Given the description of an element on the screen output the (x, y) to click on. 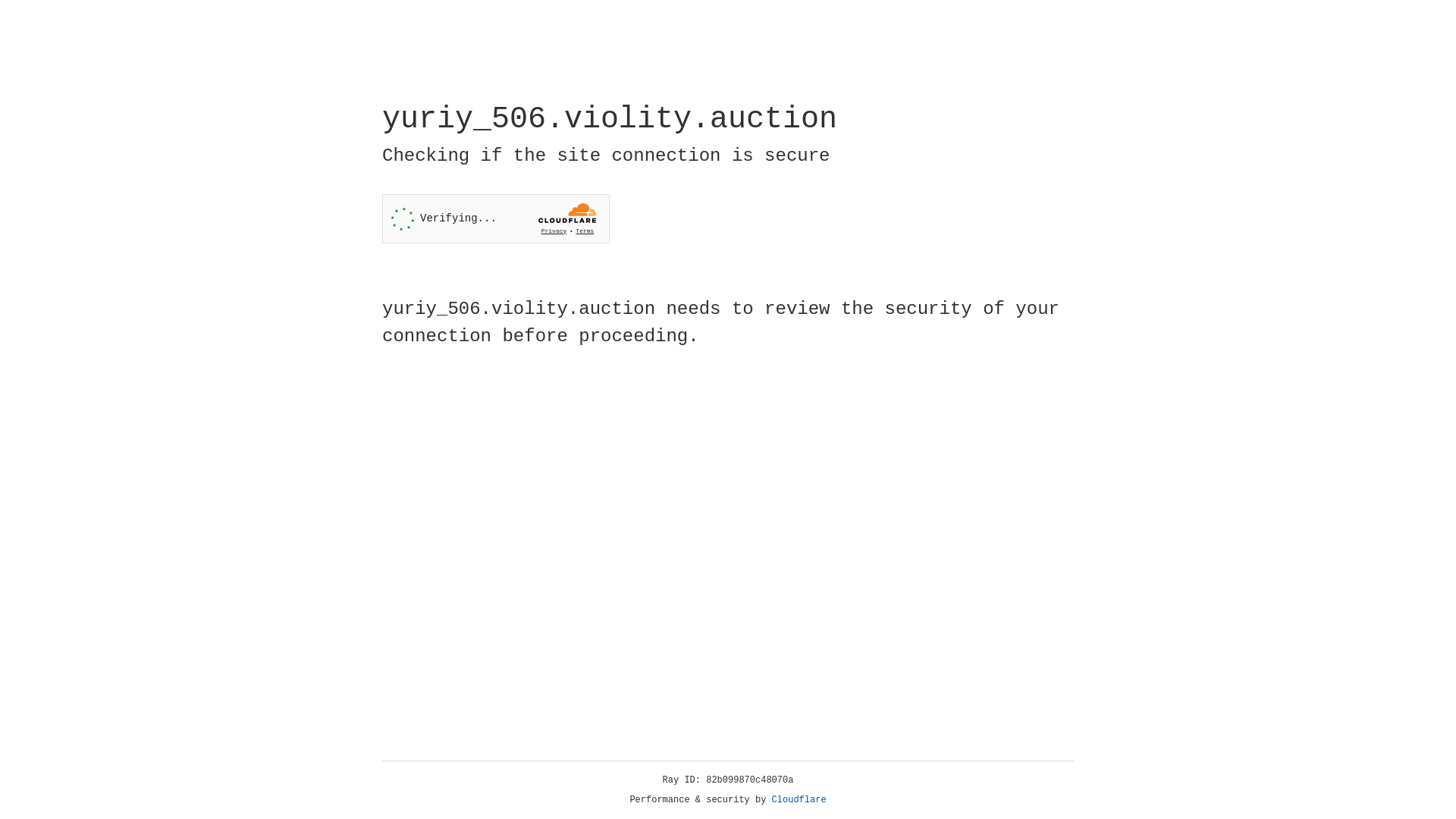
Cloudflare Element type: text (798, 799)
Widget containing a Cloudflare security challenge Element type: hover (495, 218)
